Given the description of an element on the screen output the (x, y) to click on. 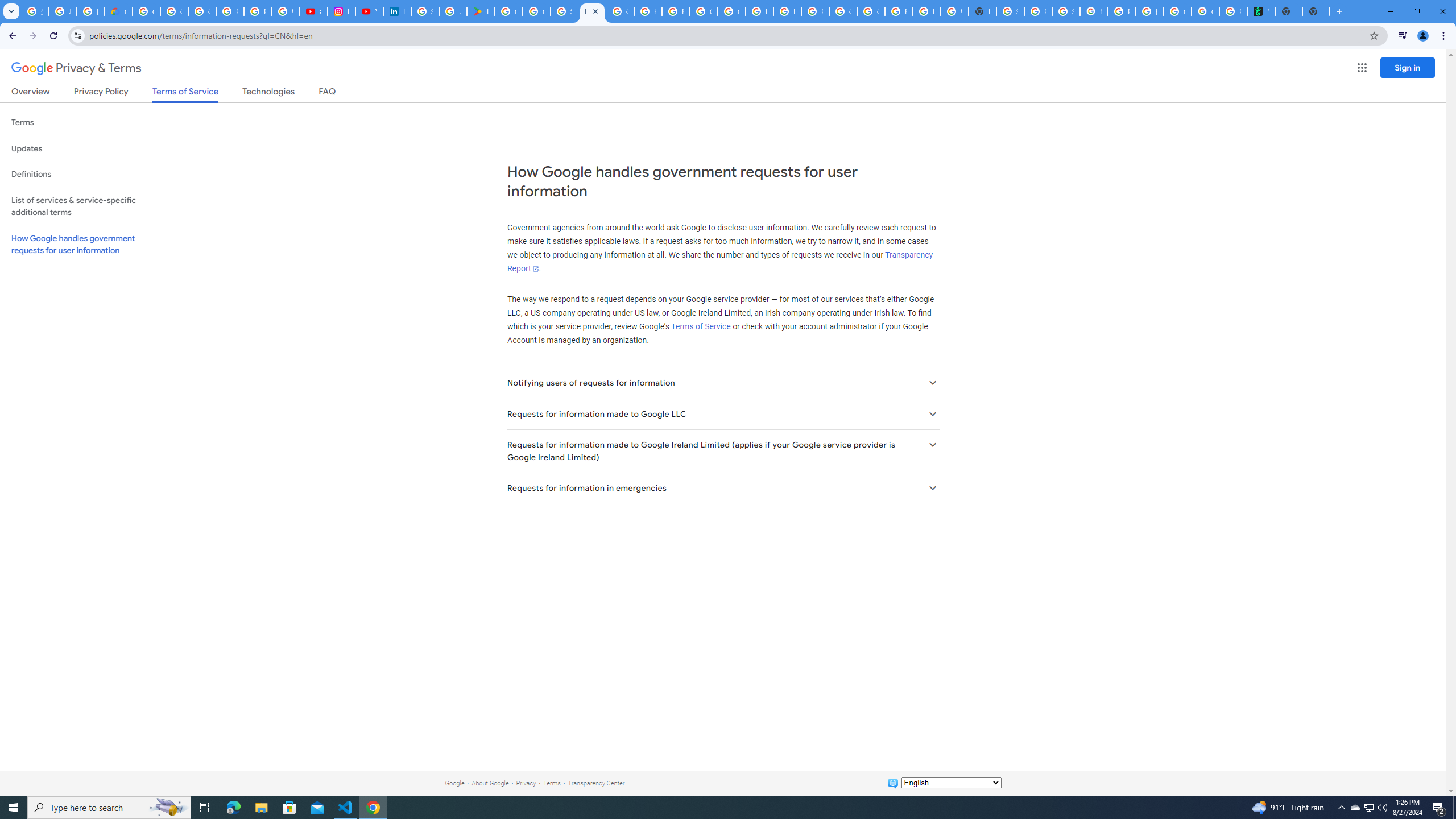
New Tab (982, 11)
Sign in - Google Accounts (425, 11)
